Given the description of an element on the screen output the (x, y) to click on. 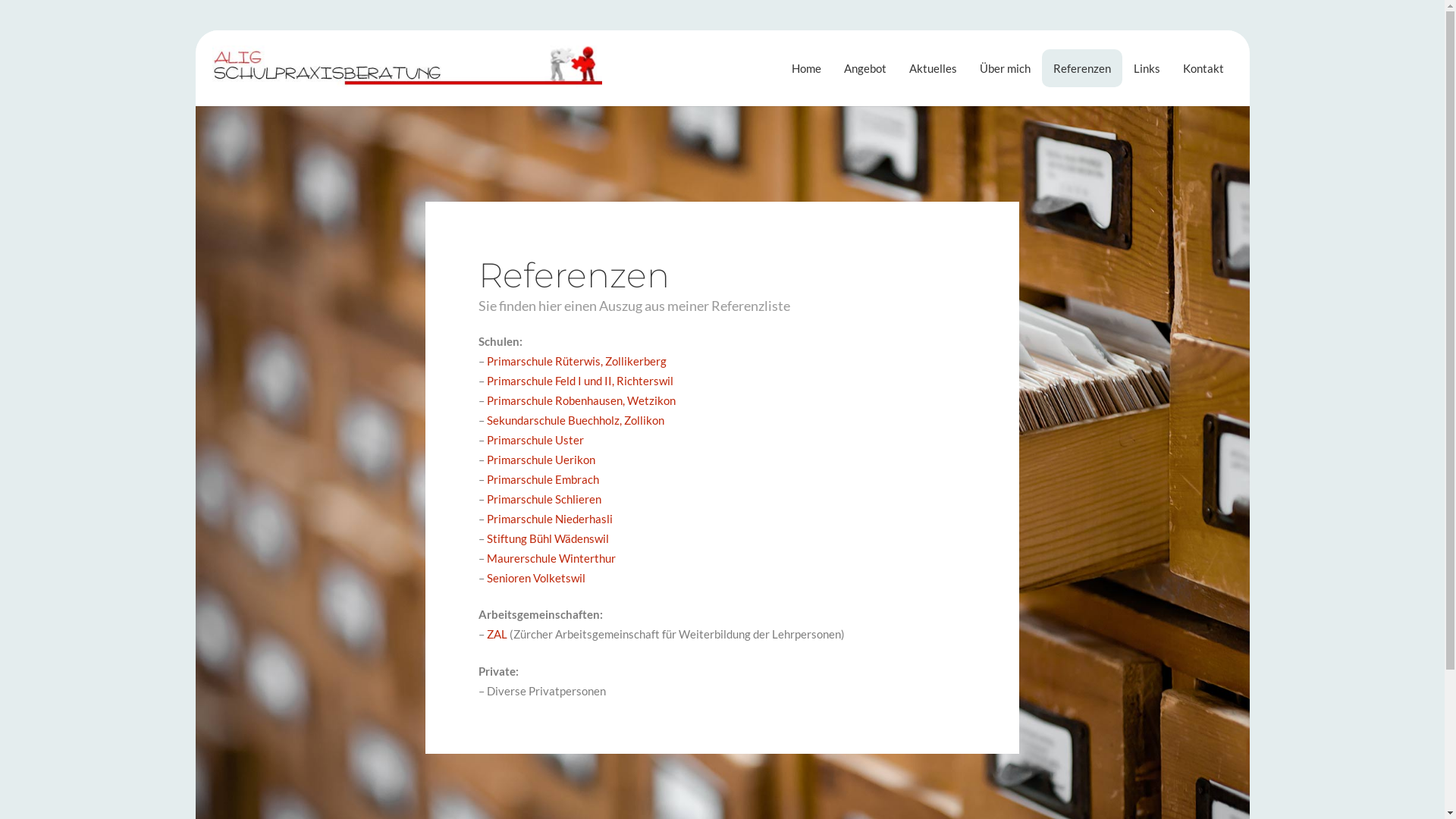
Primarschule Schlieren Element type: text (543, 498)
Senioren Volketswil Element type: text (535, 577)
Home Element type: text (806, 68)
Links Element type: text (1146, 68)
Primarschule Embrach Element type: text (542, 479)
Primarschule Uerikon Element type: text (540, 459)
ZAL Element type: text (496, 633)
Maurerschule Winterthur Element type: text (550, 557)
Primarschule Feld I und II, Richterswil Element type: text (579, 380)
Angebot Element type: text (864, 68)
Aktuelles Element type: text (932, 68)
Primarschule Uster Element type: text (534, 439)
Referenzen Element type: text (1081, 68)
Primarschule Niederhasli Element type: text (549, 518)
Primarschule Robenhausen, Wetzikon Element type: text (580, 400)
Sekundarschule Buechholz, Zollikon Element type: text (575, 419)
Kontakt Element type: text (1203, 68)
